Given the description of an element on the screen output the (x, y) to click on. 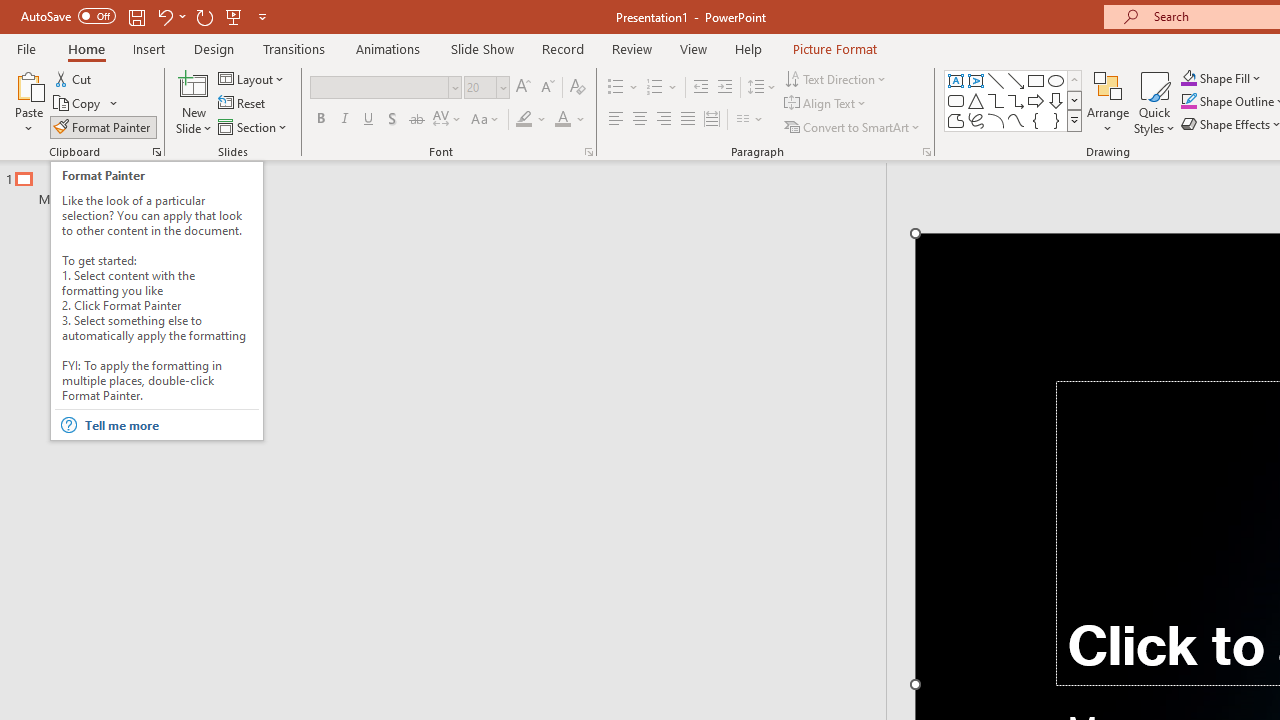
Connector: Elbow Arrow (1016, 100)
Font Color Red (562, 119)
Columns (750, 119)
Align Right (663, 119)
Clear Formatting (577, 87)
Italic (344, 119)
Shape Fill Orange, Accent 2 (1188, 78)
